Given the description of an element on the screen output the (x, y) to click on. 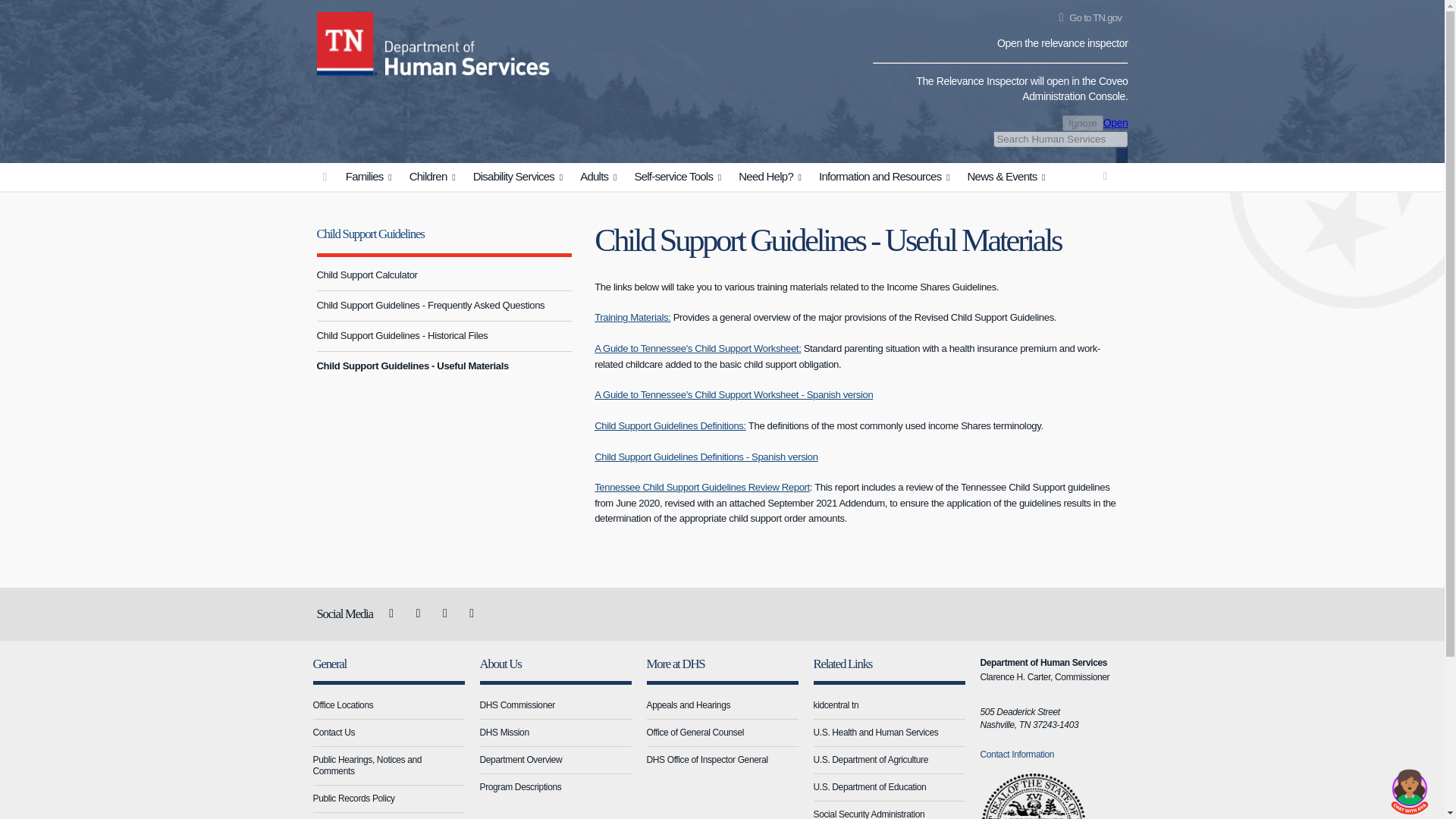
Go to TN.gov (1086, 18)
Home (347, 41)
Disability Services (519, 176)
Adults (600, 176)
Children (434, 176)
Families (370, 176)
